Given the description of an element on the screen output the (x, y) to click on. 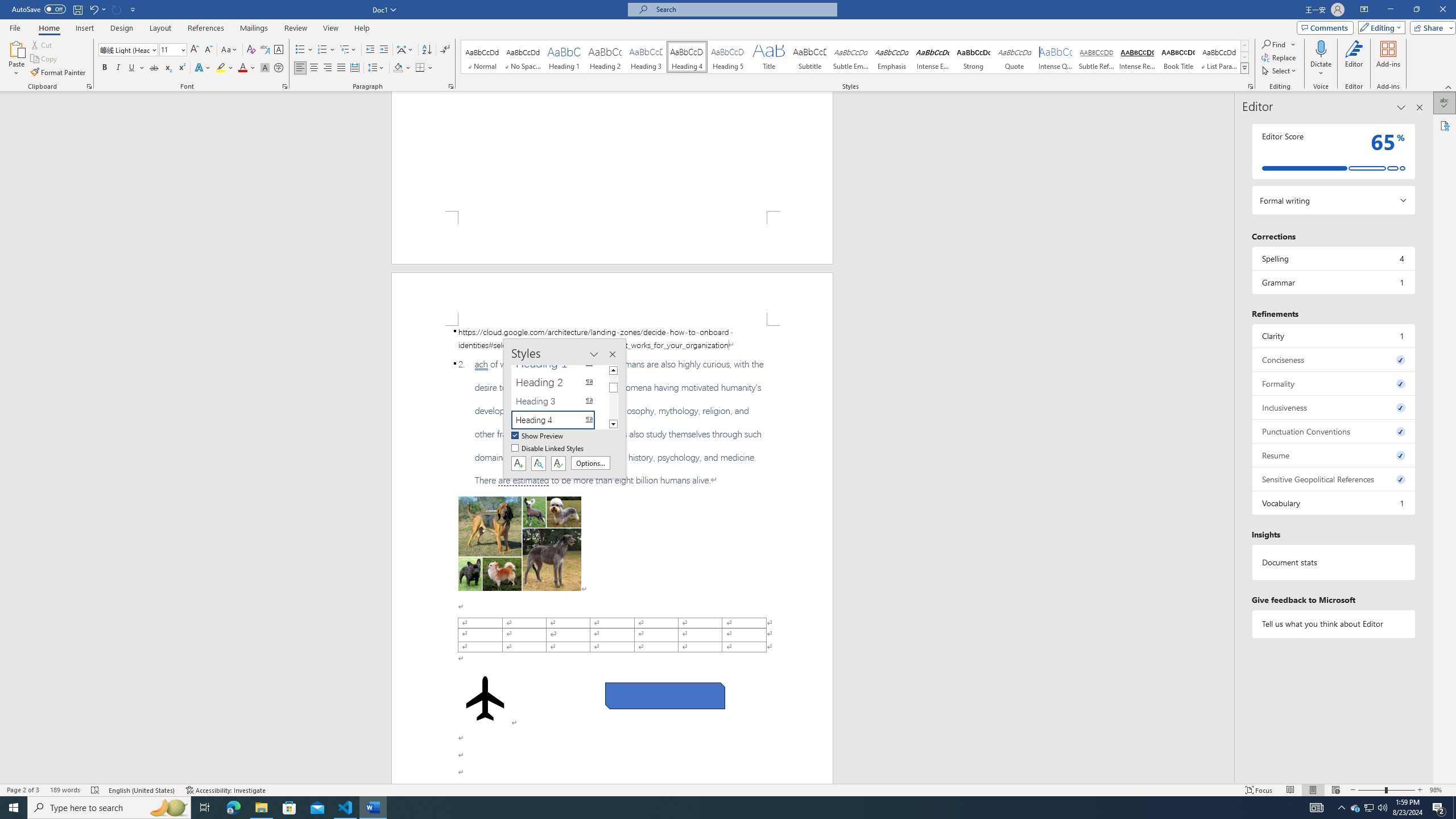
View (330, 28)
Page Number Page 2 of 3 (22, 790)
Intense Reference (1136, 56)
Distributed (354, 67)
Copy (45, 58)
Styles... (1250, 85)
Phonetic Guide... (264, 49)
Print Layout (1312, 790)
Font... (285, 85)
Mailings (253, 28)
Header -Section 1- (611, 298)
Dictate (1320, 58)
Intense Emphasis (932, 56)
